Given the description of an element on the screen output the (x, y) to click on. 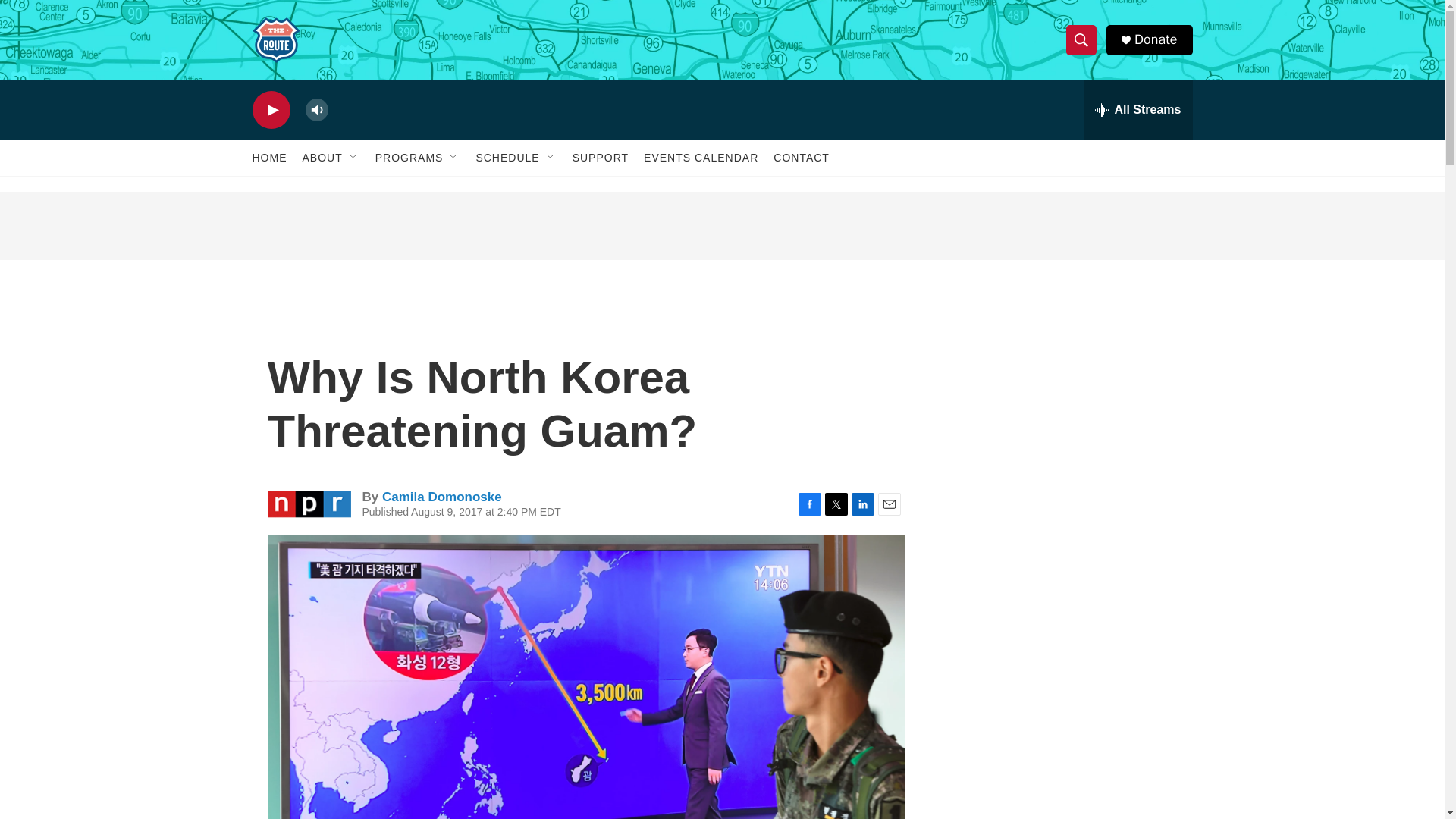
3rd party ad content (721, 225)
Donate (1155, 39)
Show Search (1080, 39)
3rd party ad content (1062, 419)
